Given the description of an element on the screen output the (x, y) to click on. 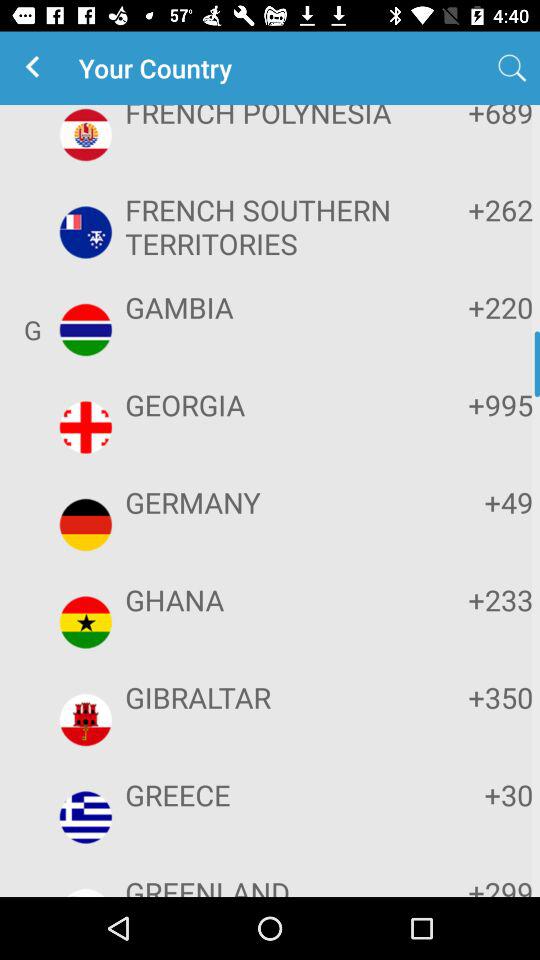
open icon below ghana item (267, 697)
